Given the description of an element on the screen output the (x, y) to click on. 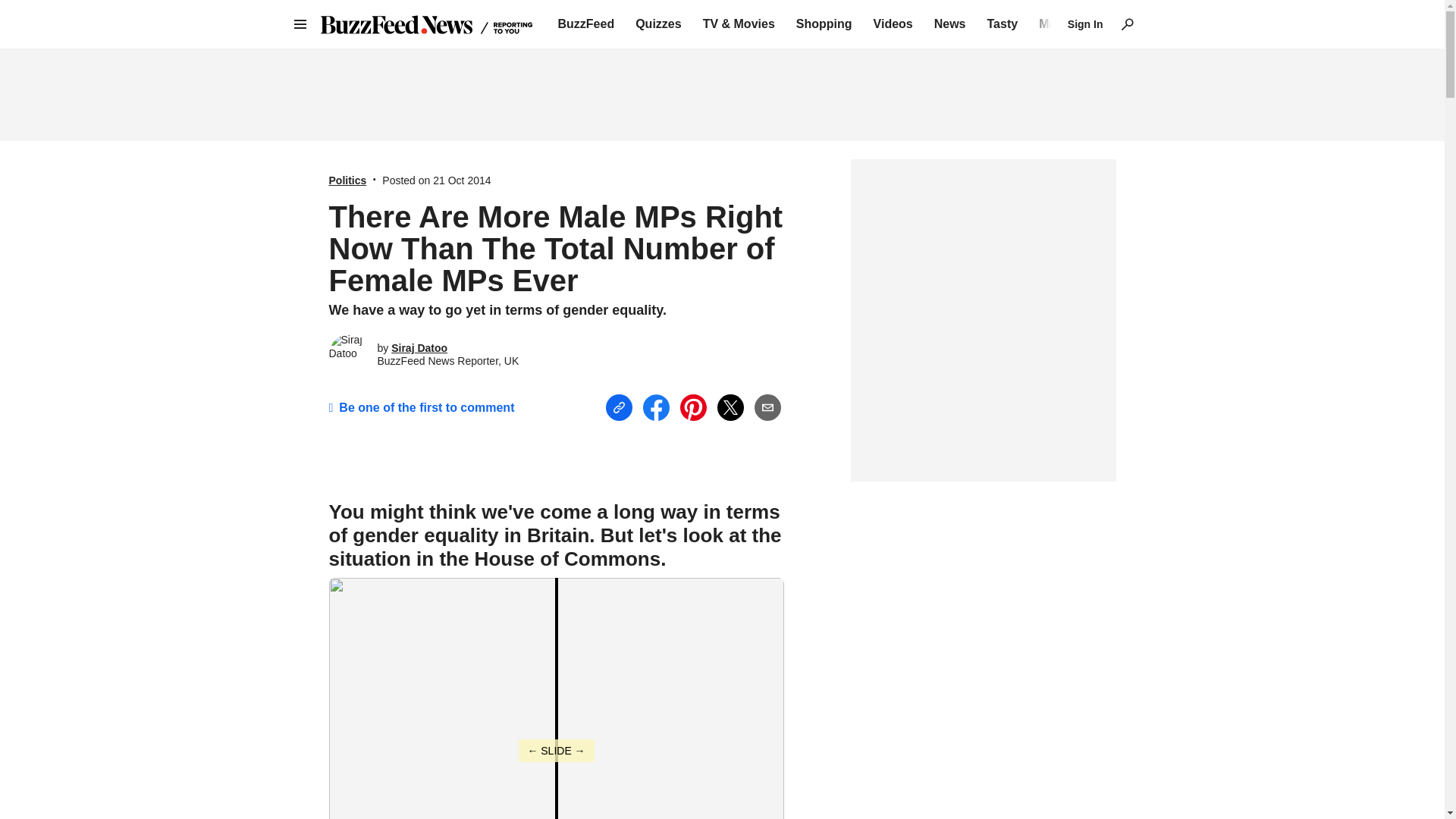
Twitter (730, 407)
Mail (767, 407)
Pinterest (692, 406)
News (950, 24)
BuzzFeed (585, 24)
Facebook (656, 406)
Sign In (1085, 23)
Make a Quiz (1073, 24)
Tasty (1002, 24)
Shopping (823, 24)
Quizzes (657, 24)
Link (618, 407)
Videos (892, 24)
